Given the description of an element on the screen output the (x, y) to click on. 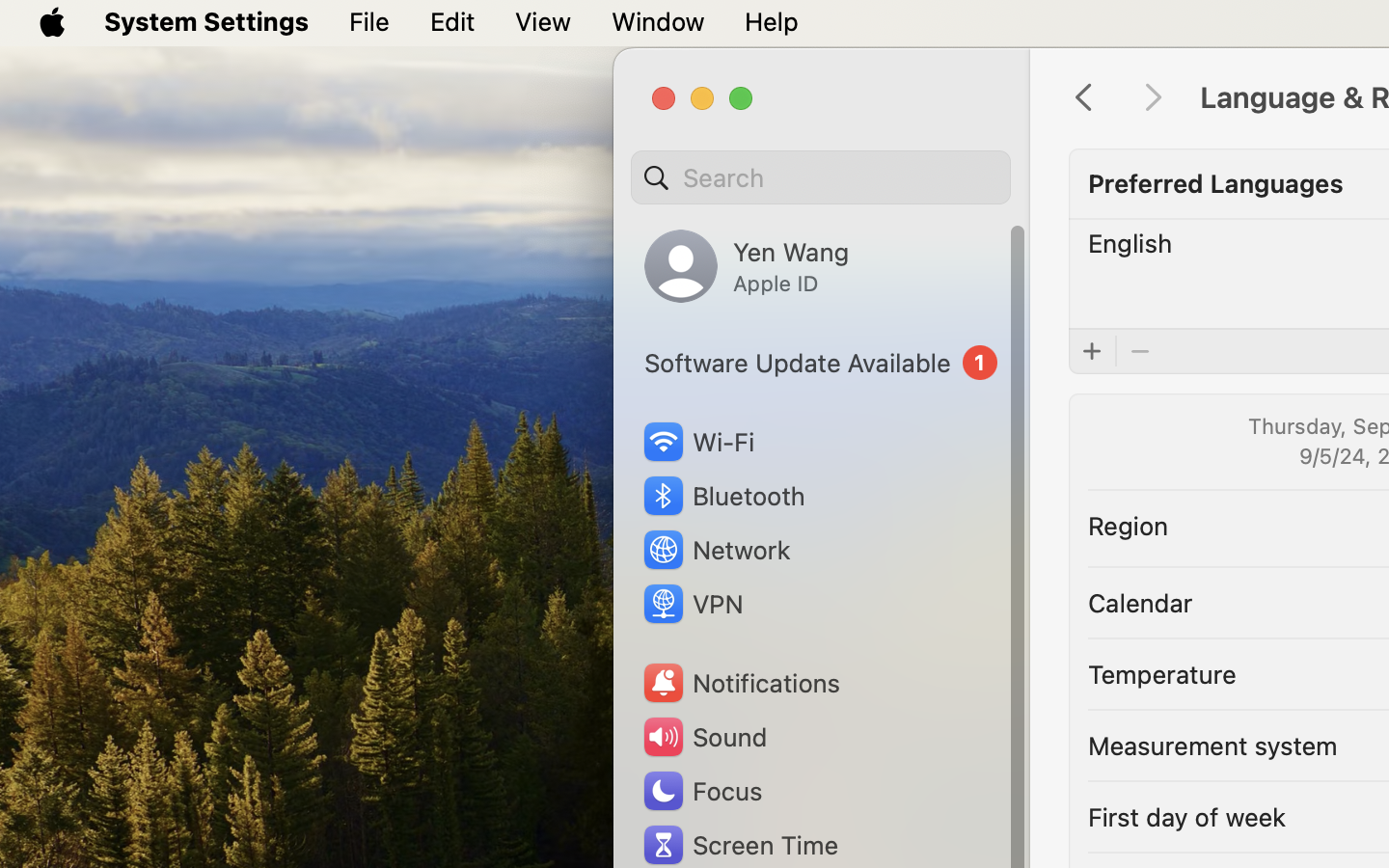
Region Element type: AXStaticText (1128, 524)
Measurement system Element type: AXStaticText (1212, 744)
Temperature Element type: AXStaticText (1162, 672)
English Element type: AXStaticText (1130, 242)
Bluetooth Element type: AXStaticText (723, 495)
